Given the description of an element on the screen output the (x, y) to click on. 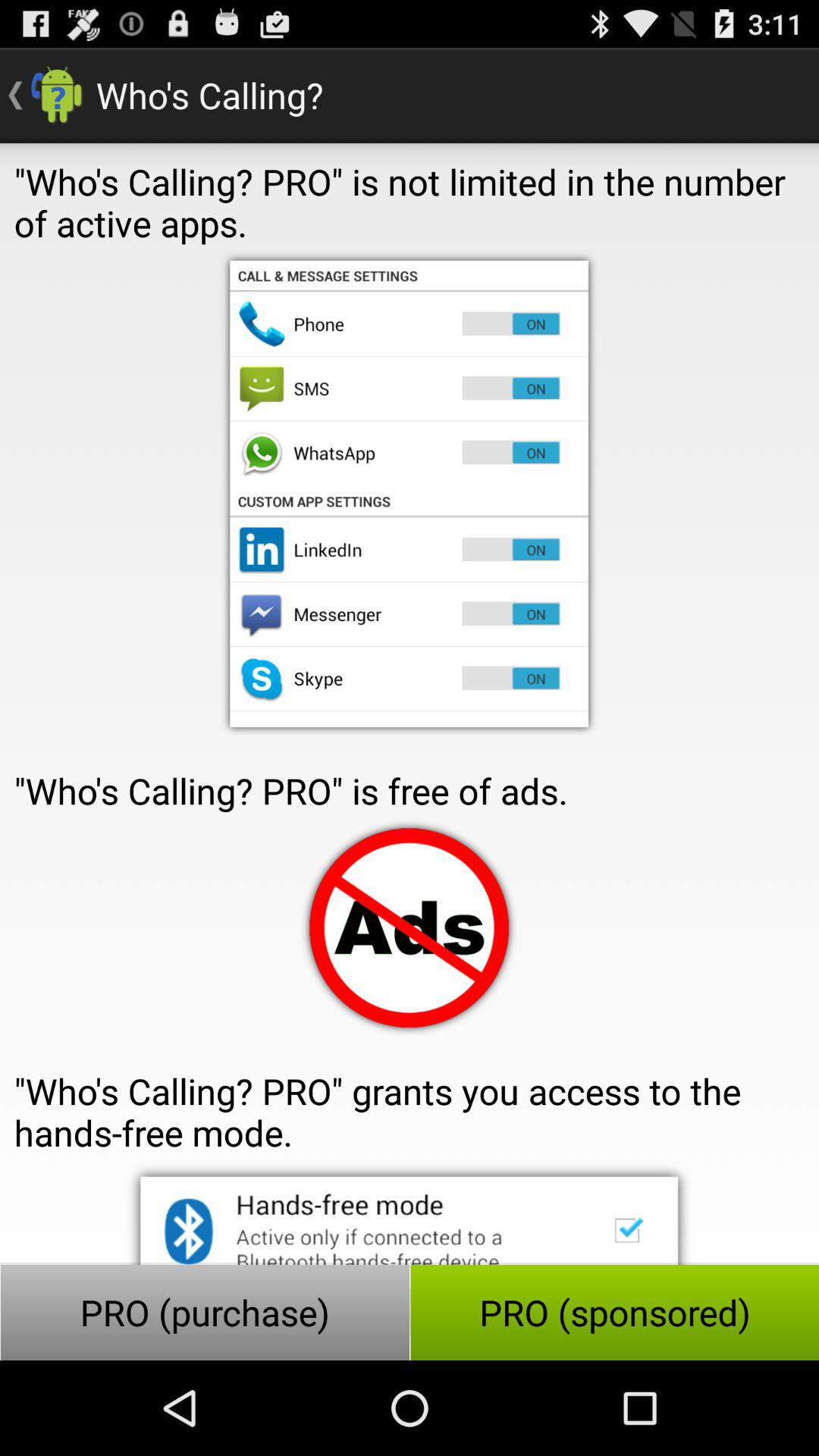
turn on the button next to pro (sponsored) icon (204, 1312)
